Given the description of an element on the screen output the (x, y) to click on. 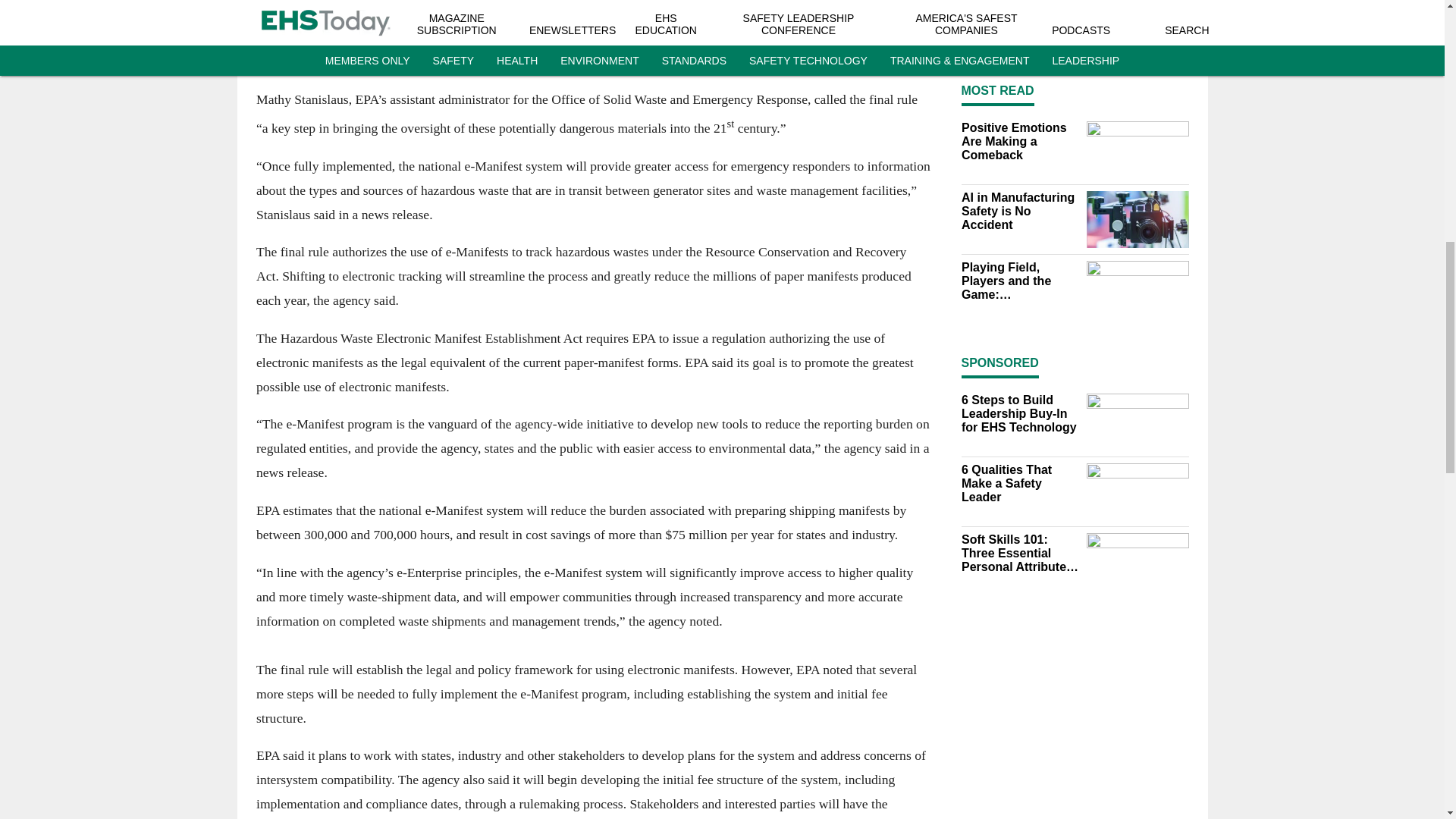
a national e-Manifest system (599, 37)
